Given the description of an element on the screen output the (x, y) to click on. 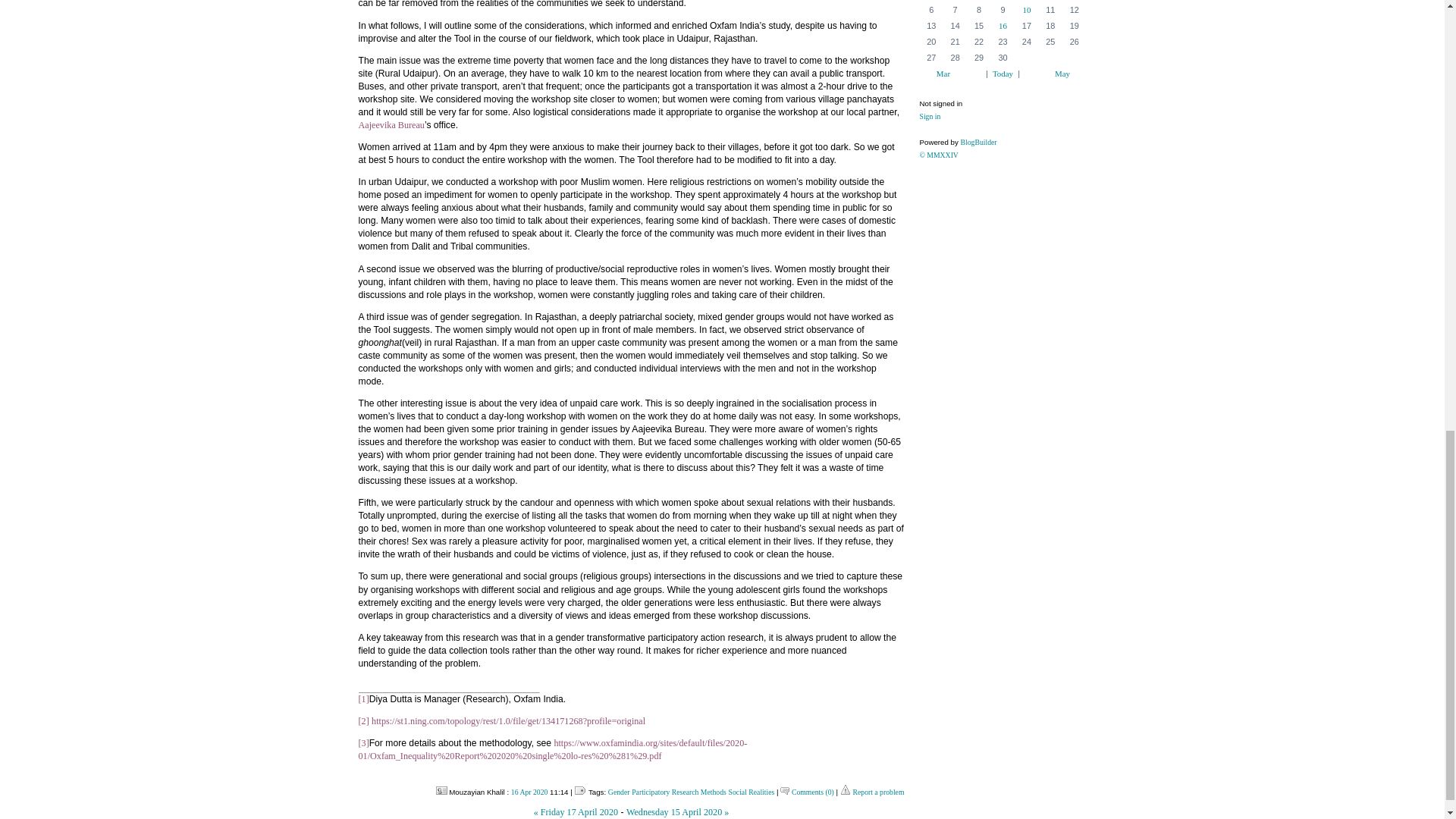
16 Apr 2020 (529, 791)
Report a problem (877, 791)
Read all entries written on this date (529, 791)
Aajeevika Bureau (390, 124)
Social Realities (751, 791)
Participatory Research Methods (678, 791)
Read or add comments (813, 791)
Gender (619, 791)
